Given the description of an element on the screen output the (x, y) to click on. 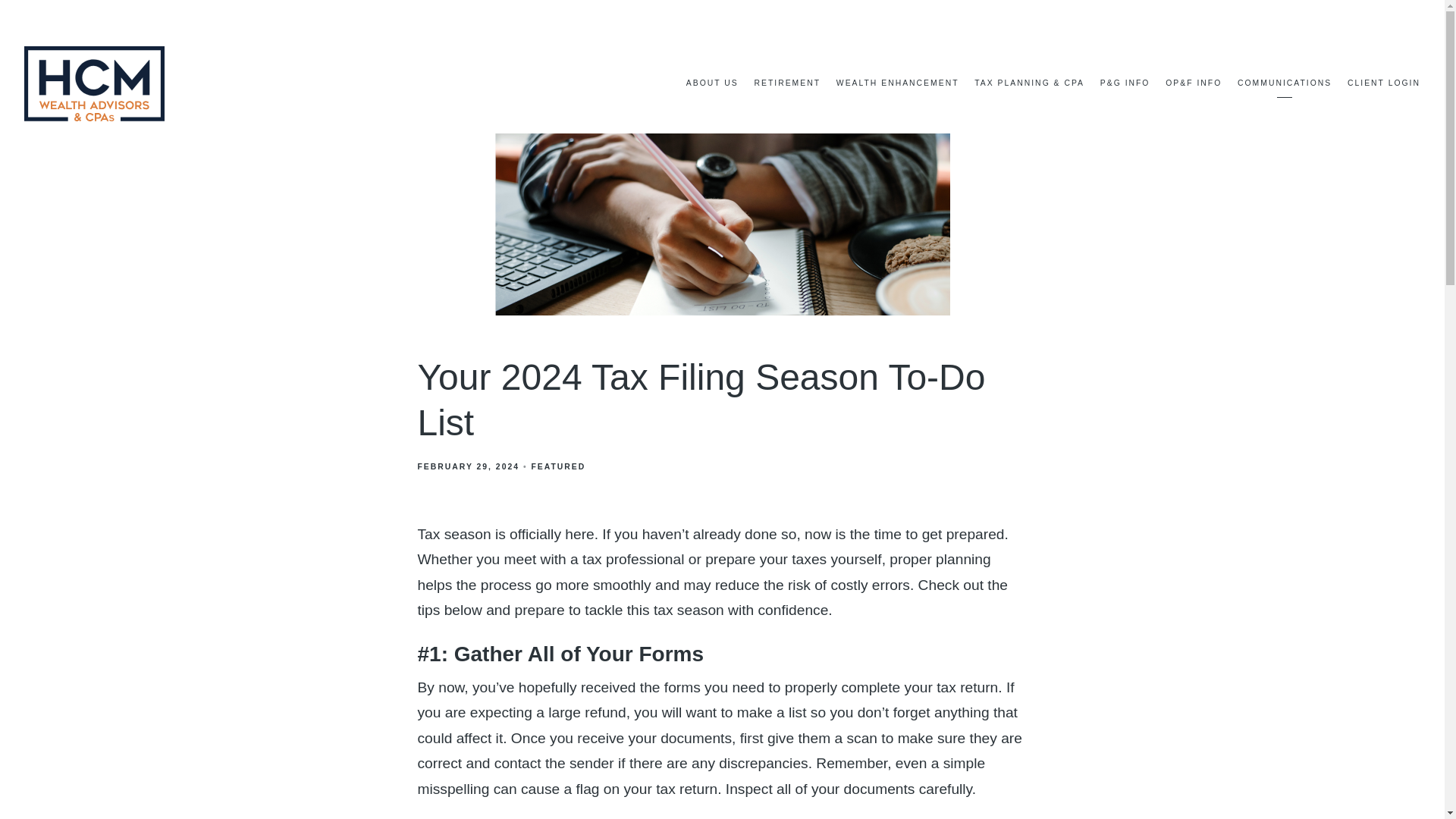
COMMUNICATIONS (1284, 83)
CLIENT LOGIN (1384, 83)
WEALTH ENHANCEMENT (897, 83)
ABOUT US (711, 83)
RETIREMENT (787, 83)
FEATURED (558, 466)
